Given the description of an element on the screen output the (x, y) to click on. 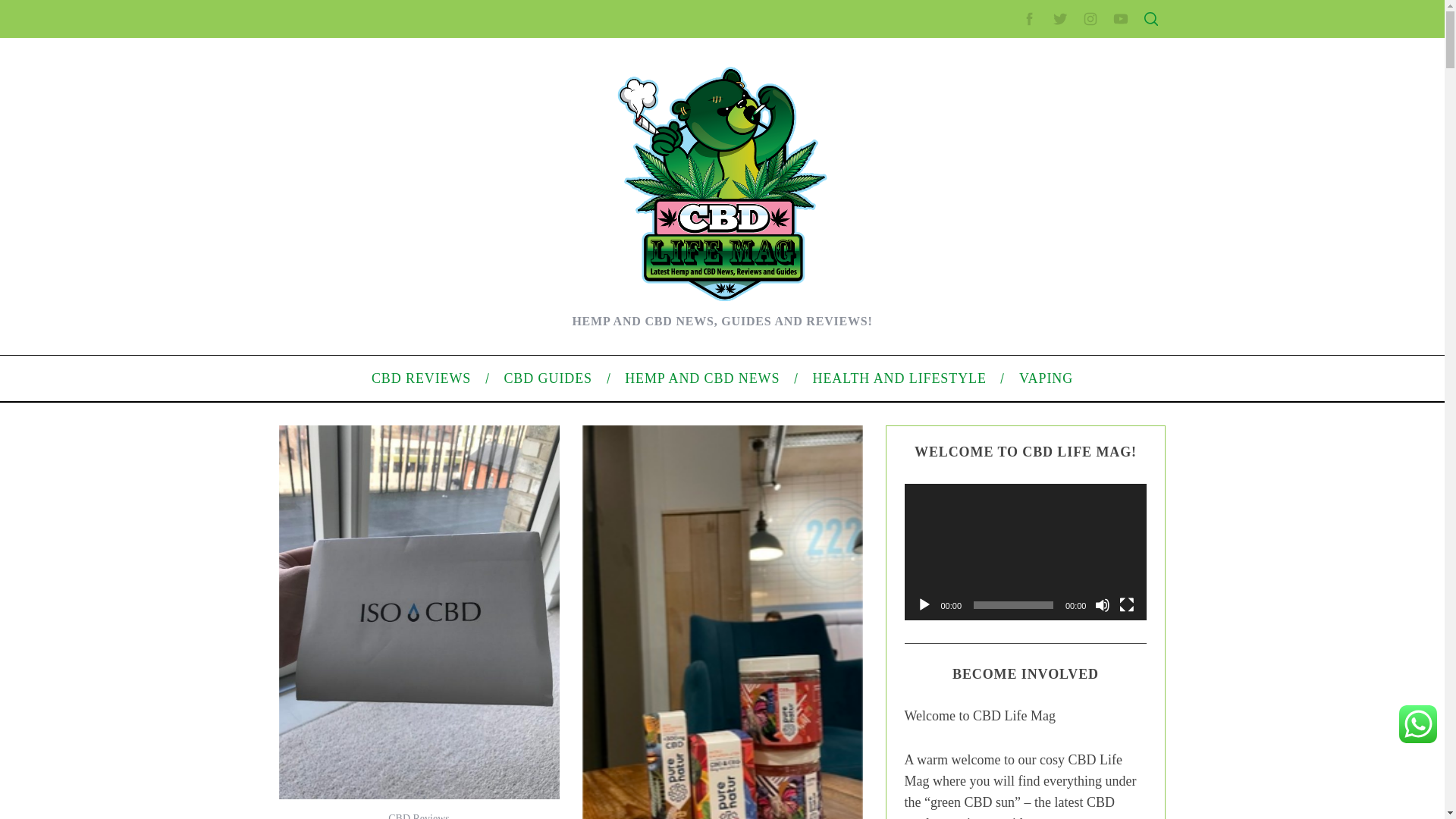
ADMINISTRATOR (417, 81)
Blog (976, 510)
more tips here (747, 535)
August 2020 (996, 432)
Log in (980, 588)
RSS (977, 612)
Search (1050, 85)
Contact Us (991, 258)
Search (1050, 85)
Skip to content (34, 9)
Disclaimer (990, 354)
Search for: (1049, 47)
look at here (548, 185)
Latest Article (996, 172)
DMCA Policy (996, 282)
